Given the description of an element on the screen output the (x, y) to click on. 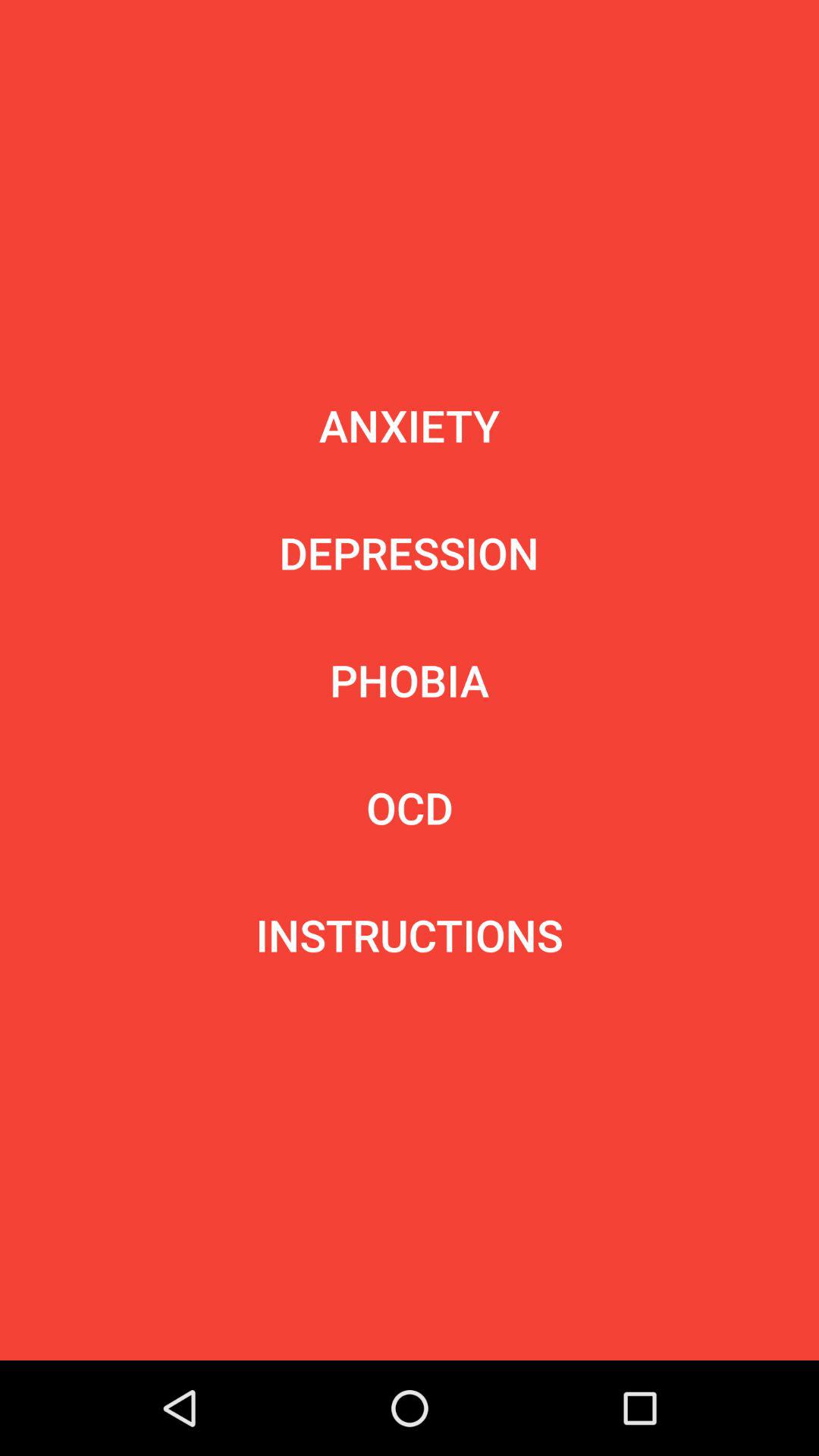
tap the phobia icon (409, 680)
